Given the description of an element on the screen output the (x, y) to click on. 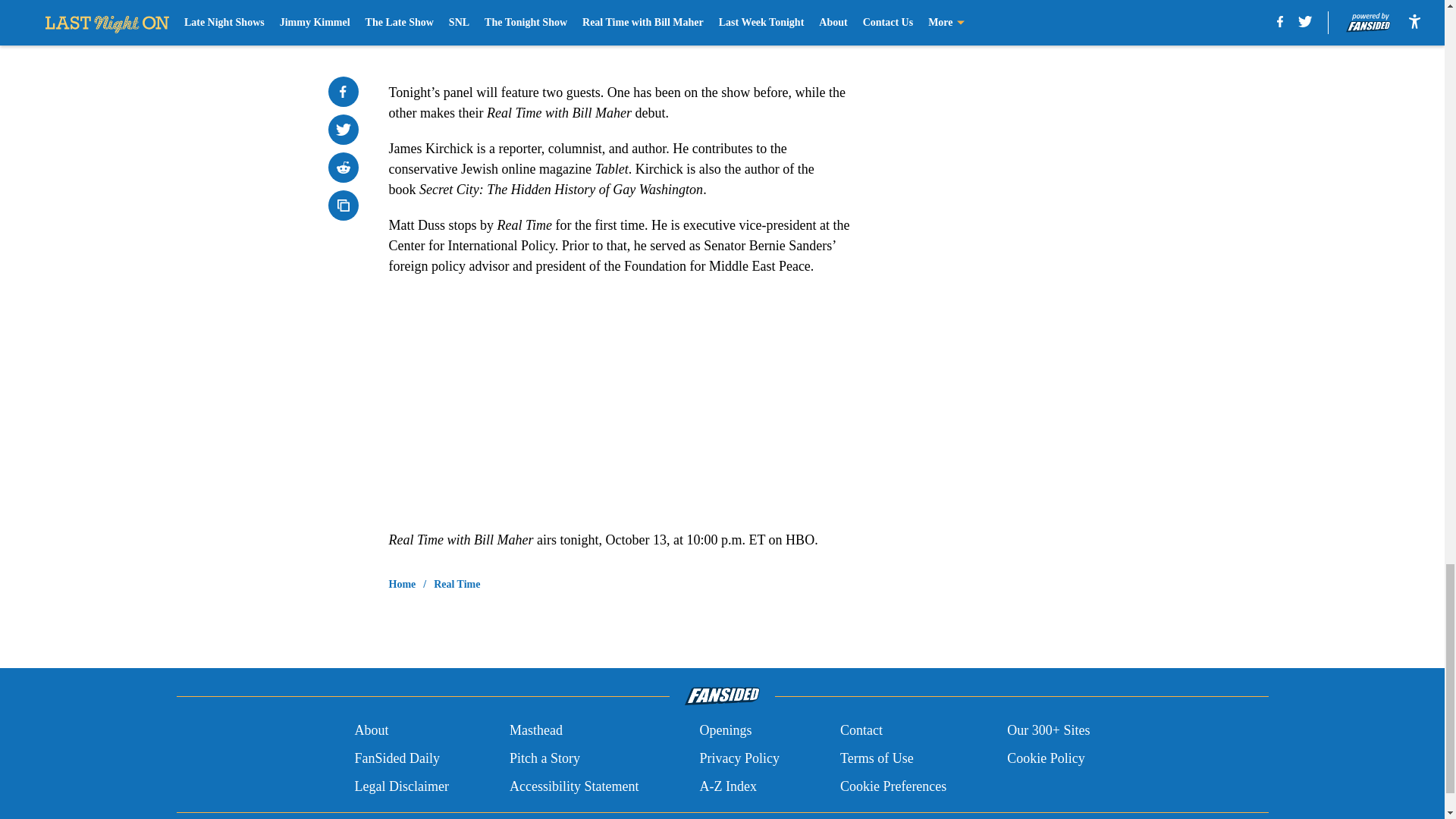
Pitch a Story (544, 758)
Openings (724, 730)
Cookie Policy (1045, 758)
Terms of Use (877, 758)
Home (401, 584)
Contact (861, 730)
Privacy Policy (738, 758)
Legal Disclaimer (400, 786)
FanSided Daily (396, 758)
Real Time (456, 584)
Accessibility Statement (574, 786)
Masthead (535, 730)
About (370, 730)
